Given the description of an element on the screen output the (x, y) to click on. 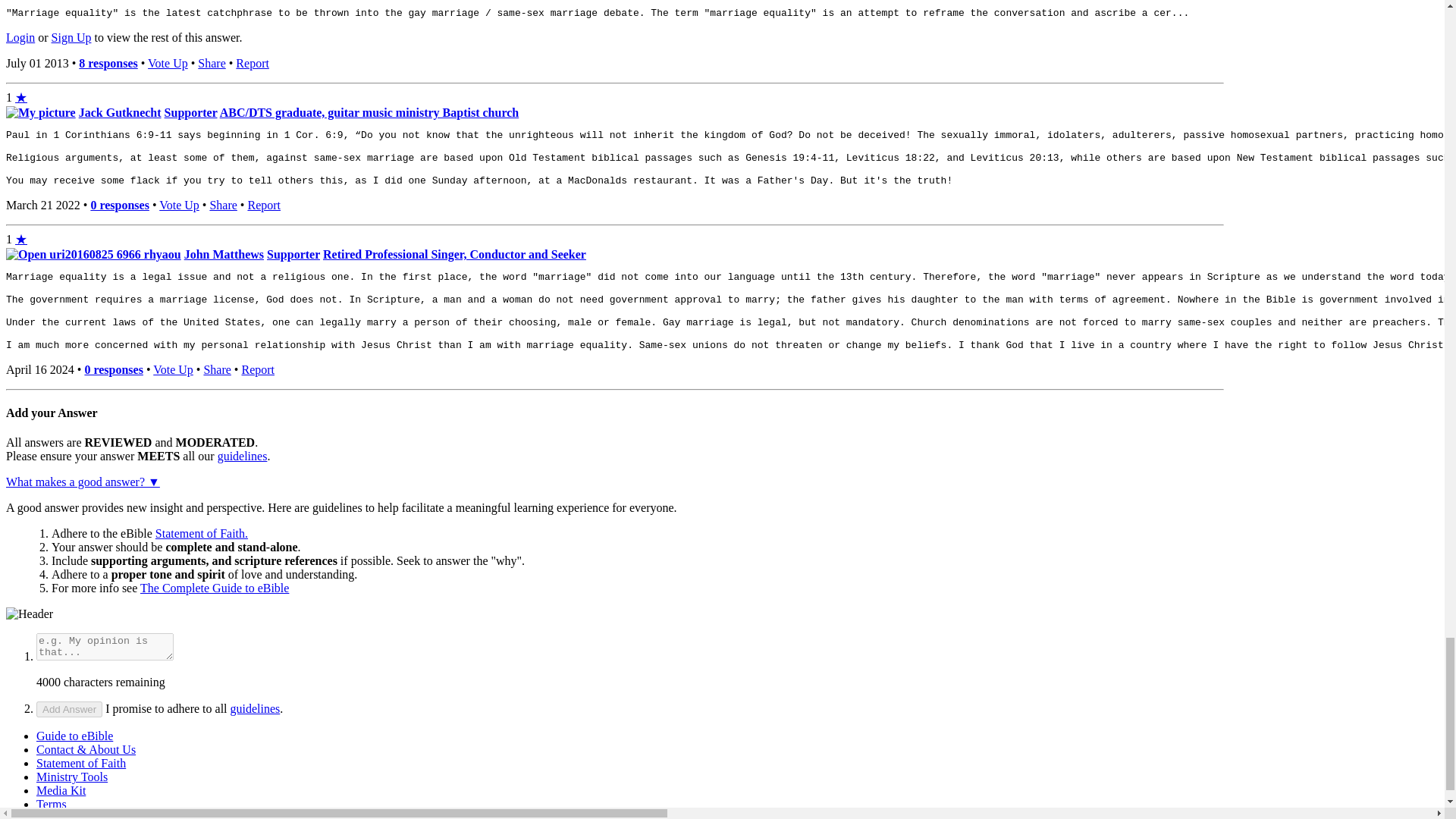
Vote Up (178, 205)
Add Answer (68, 709)
Vote Up (172, 369)
Vote Up (167, 62)
